Given the description of an element on the screen output the (x, y) to click on. 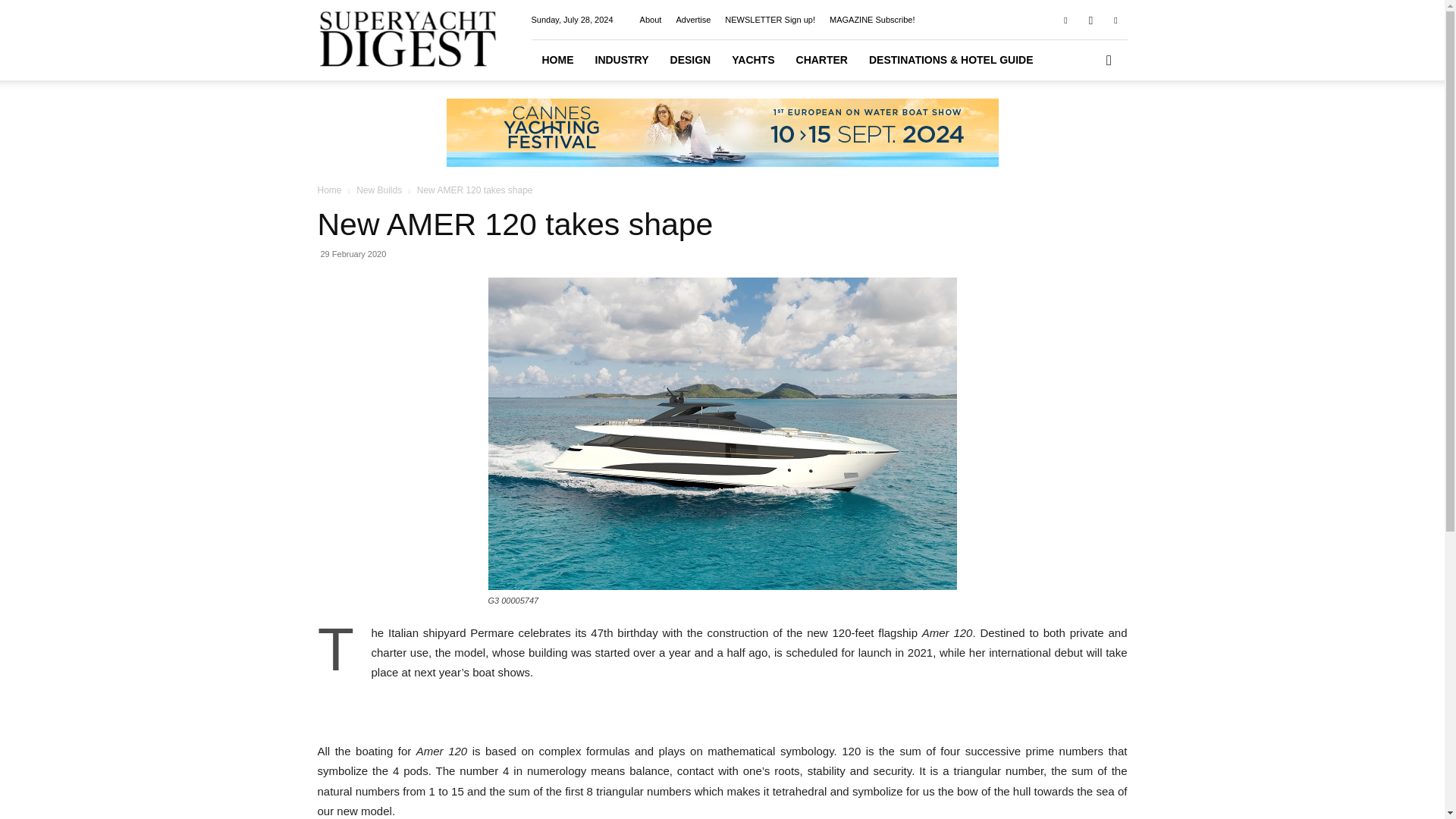
MAGAZINE Subscribe! (871, 19)
New Builds (378, 190)
Home (328, 190)
HOME (557, 60)
Advertise (692, 19)
NEWSLETTER Sign up! (770, 19)
YACHTS (752, 60)
CHARTER (822, 60)
About (651, 19)
Linkedin (1114, 19)
Search (1085, 122)
Facebook (1065, 19)
INDUSTRY (621, 60)
DESIGN (690, 60)
Instagram (1090, 19)
